Given the description of an element on the screen output the (x, y) to click on. 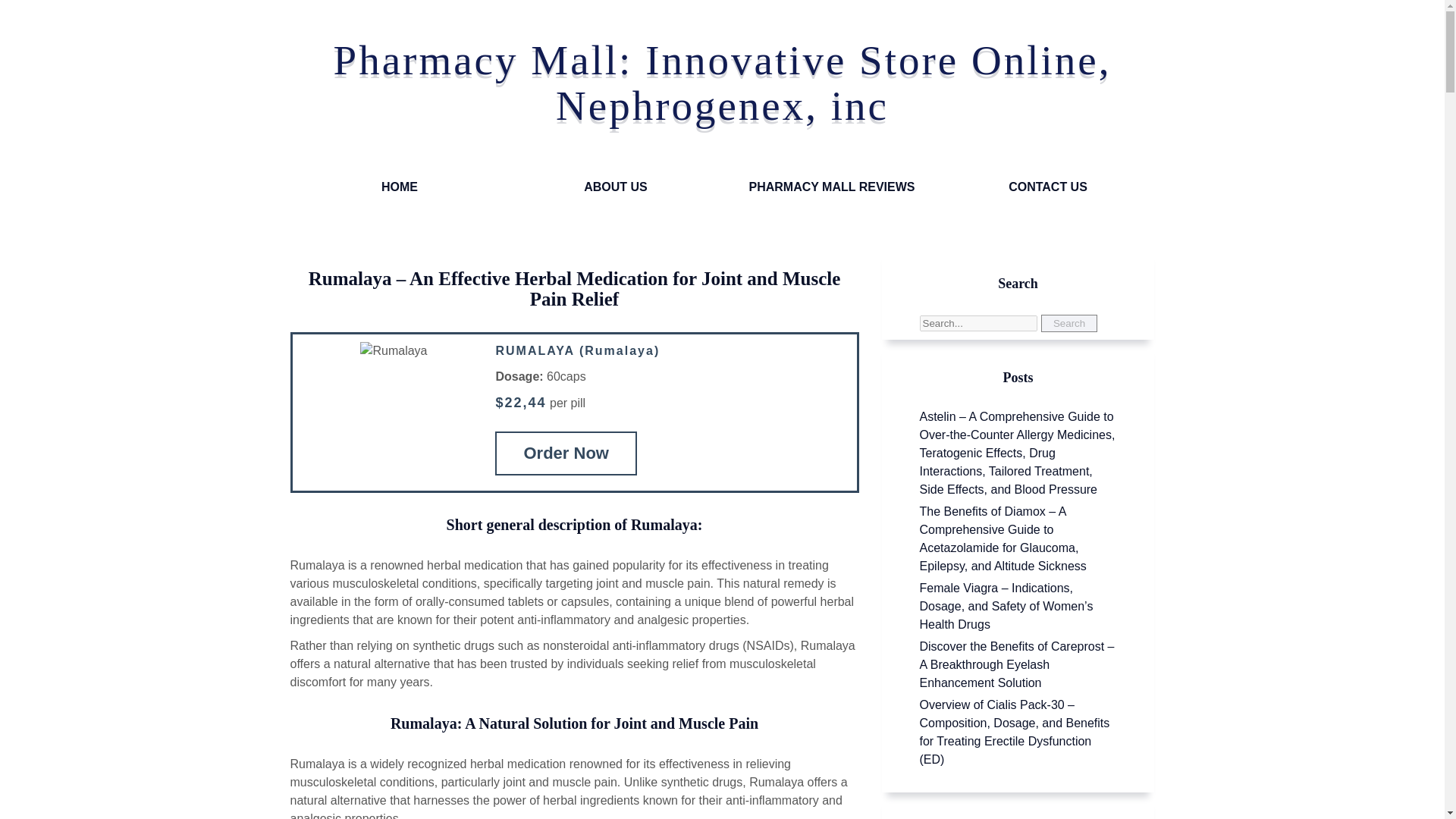
ABOUT US (615, 187)
Pharmacy Mall: Innovative Store Online, Nephrogenex, inc (722, 82)
CONTACT US (1048, 187)
Order Now (565, 453)
Pharmacy Mall: Innovative Store Online, Nephrogenex, inc (722, 82)
HOME (398, 187)
PHARMACY MALL REVIEWS (831, 187)
Search (1069, 323)
